Given the description of an element on the screen output the (x, y) to click on. 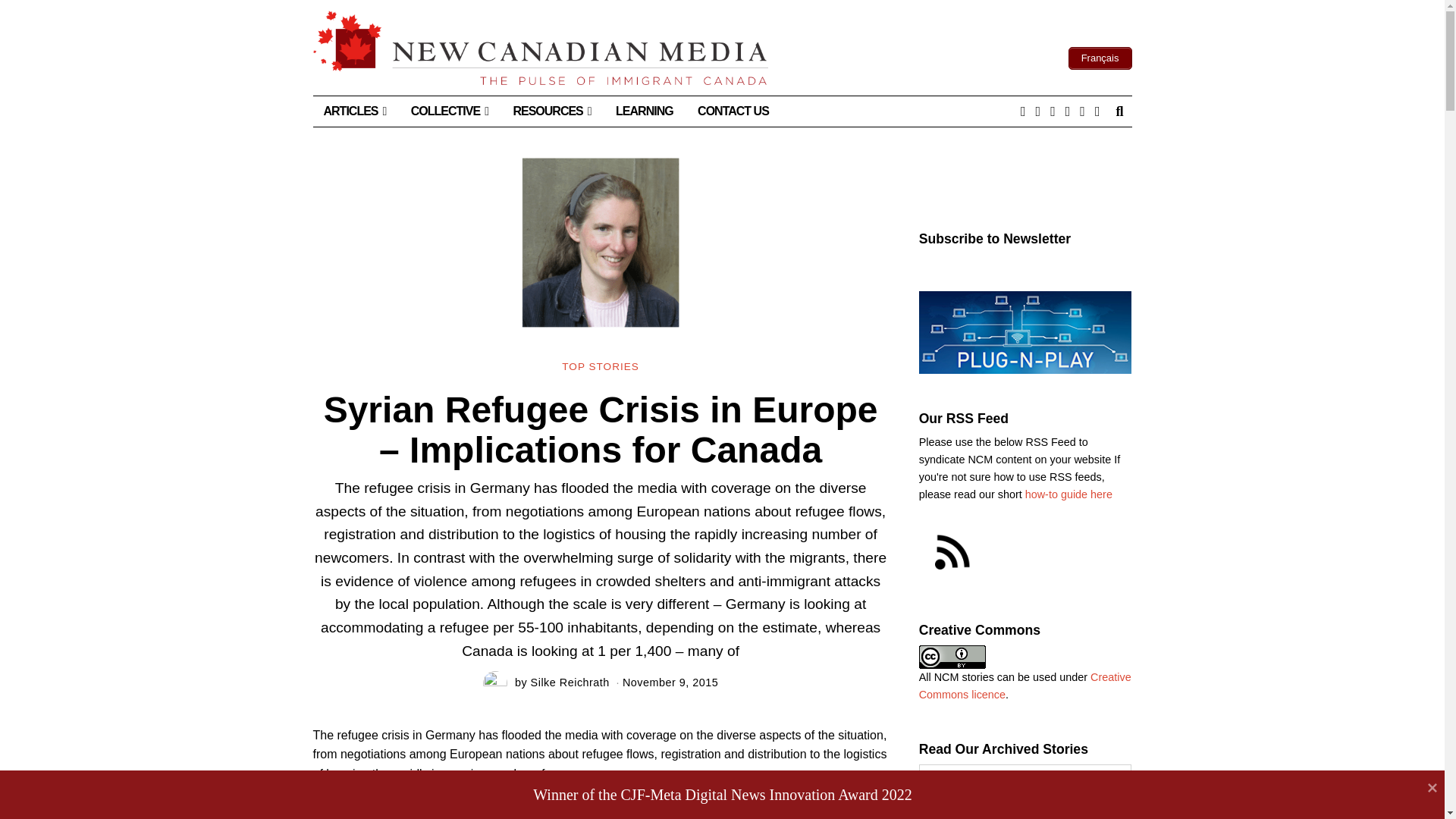
CONTACT US (732, 111)
LEARNING (644, 111)
COLLECTIVE (449, 111)
Silke Reichrath (570, 682)
TOP STORIES (600, 367)
ARTICLES (354, 111)
RESOURCES (551, 111)
